Given the description of an element on the screen output the (x, y) to click on. 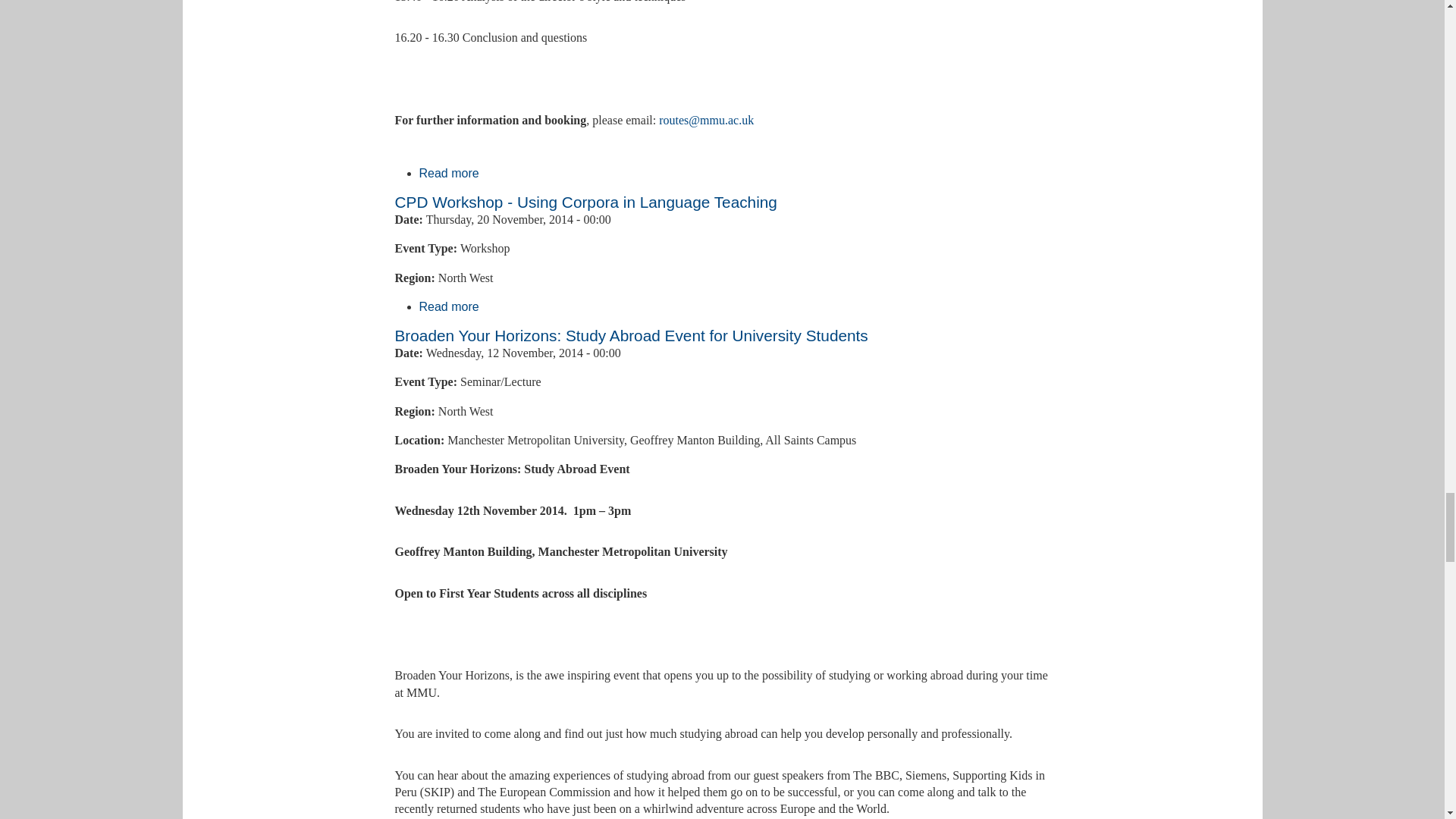
CPD Workshop - Using Corpora in Language Teaching (449, 306)
CPD Workshop - Using Corpora in Language Teaching (585, 201)
